Given the description of an element on the screen output the (x, y) to click on. 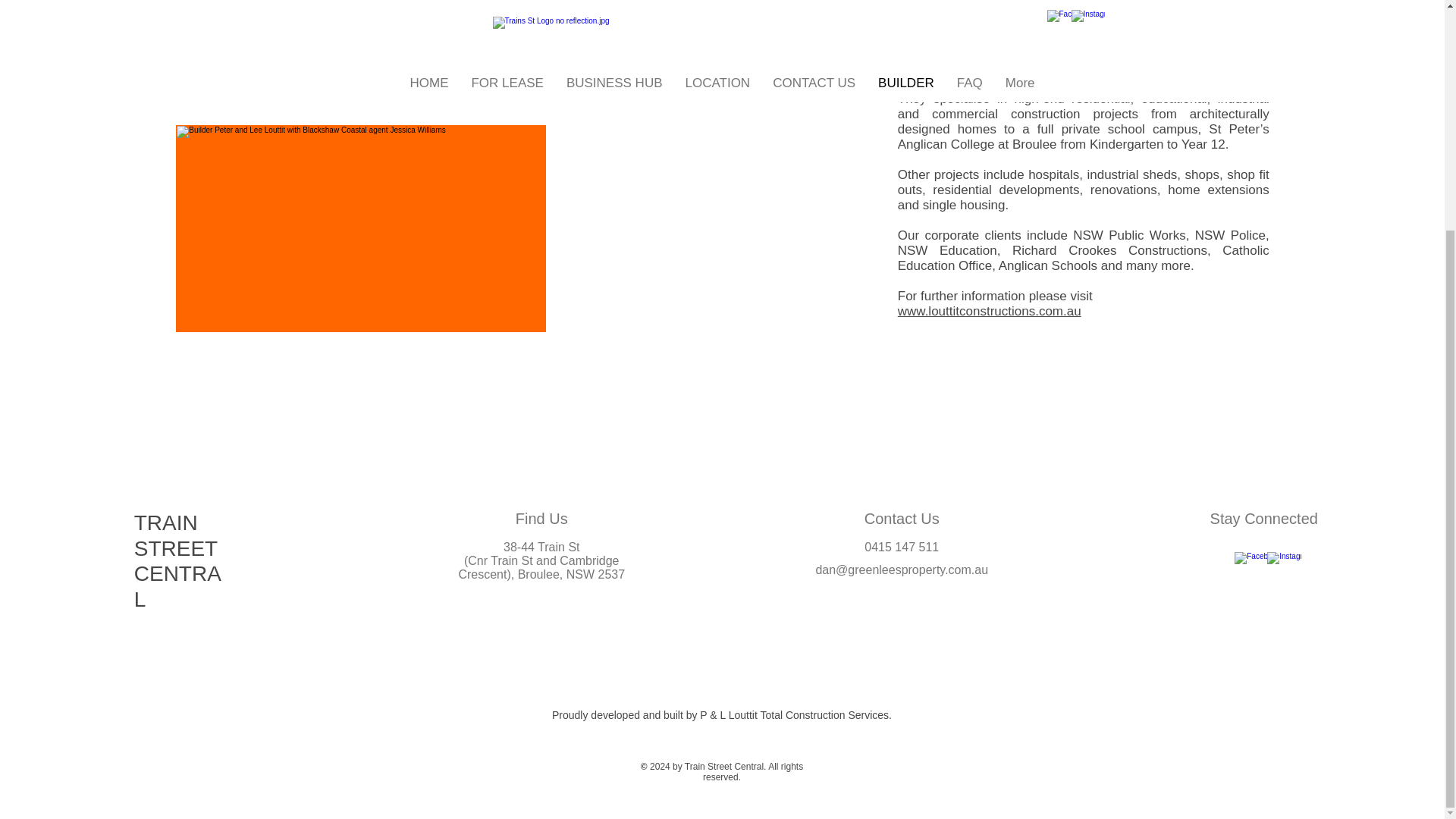
TRAIN (165, 522)
0415 147 511 (901, 546)
38-44 Train St (541, 546)
www.louttitconstructions.com.au (989, 310)
